Given the description of an element on the screen output the (x, y) to click on. 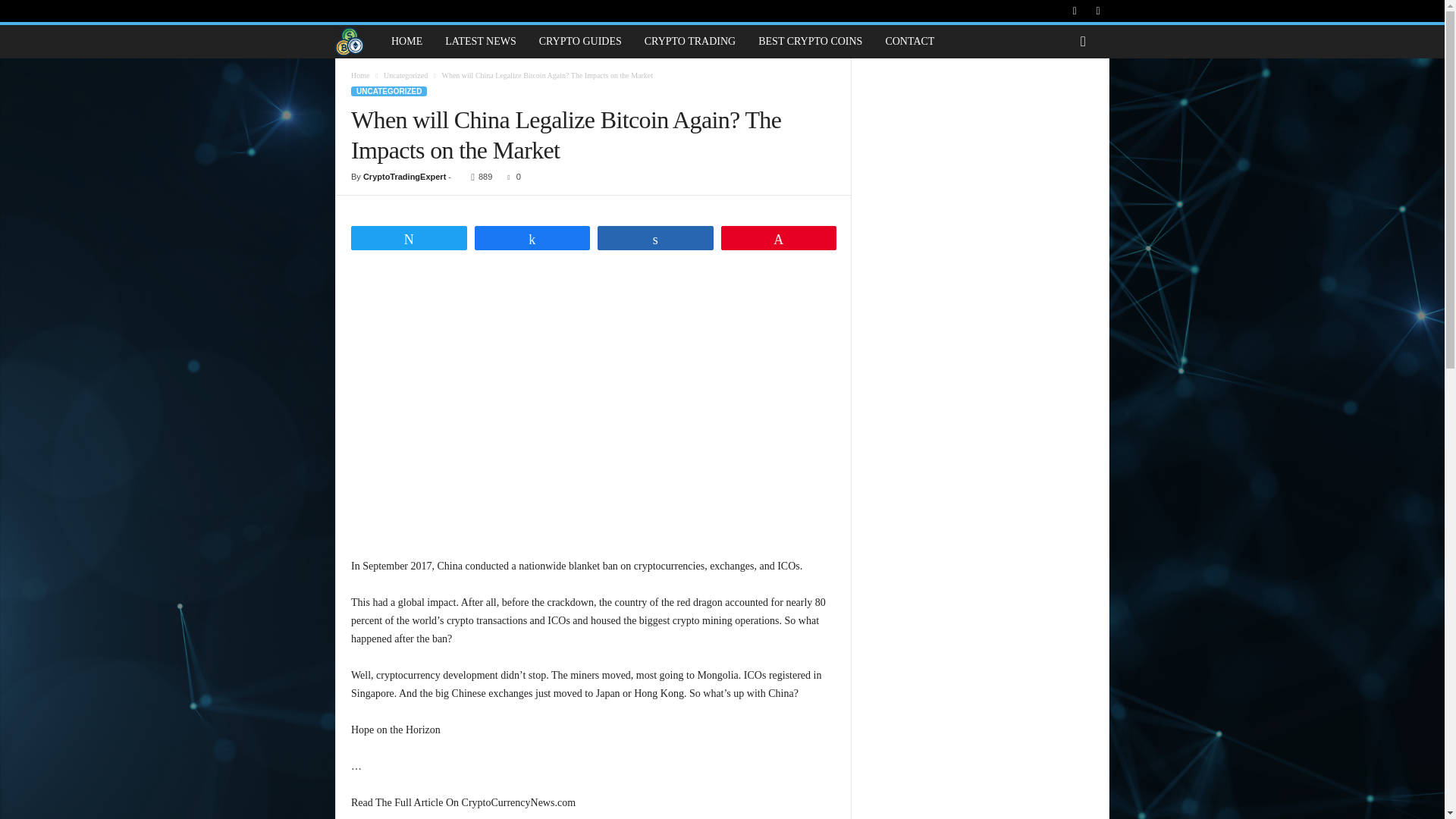
Uncategorized (406, 75)
CRYPTO TRADING (689, 41)
CryptoTradingExpert (403, 175)
View all posts in Uncategorized (406, 75)
LATEST NEWS (480, 41)
Crypto Trading Guide (357, 41)
CRYPTO GUIDES (580, 41)
UNCATEGORIZED (388, 91)
CONTACT (908, 41)
HOME (406, 41)
